Given the description of an element on the screen output the (x, y) to click on. 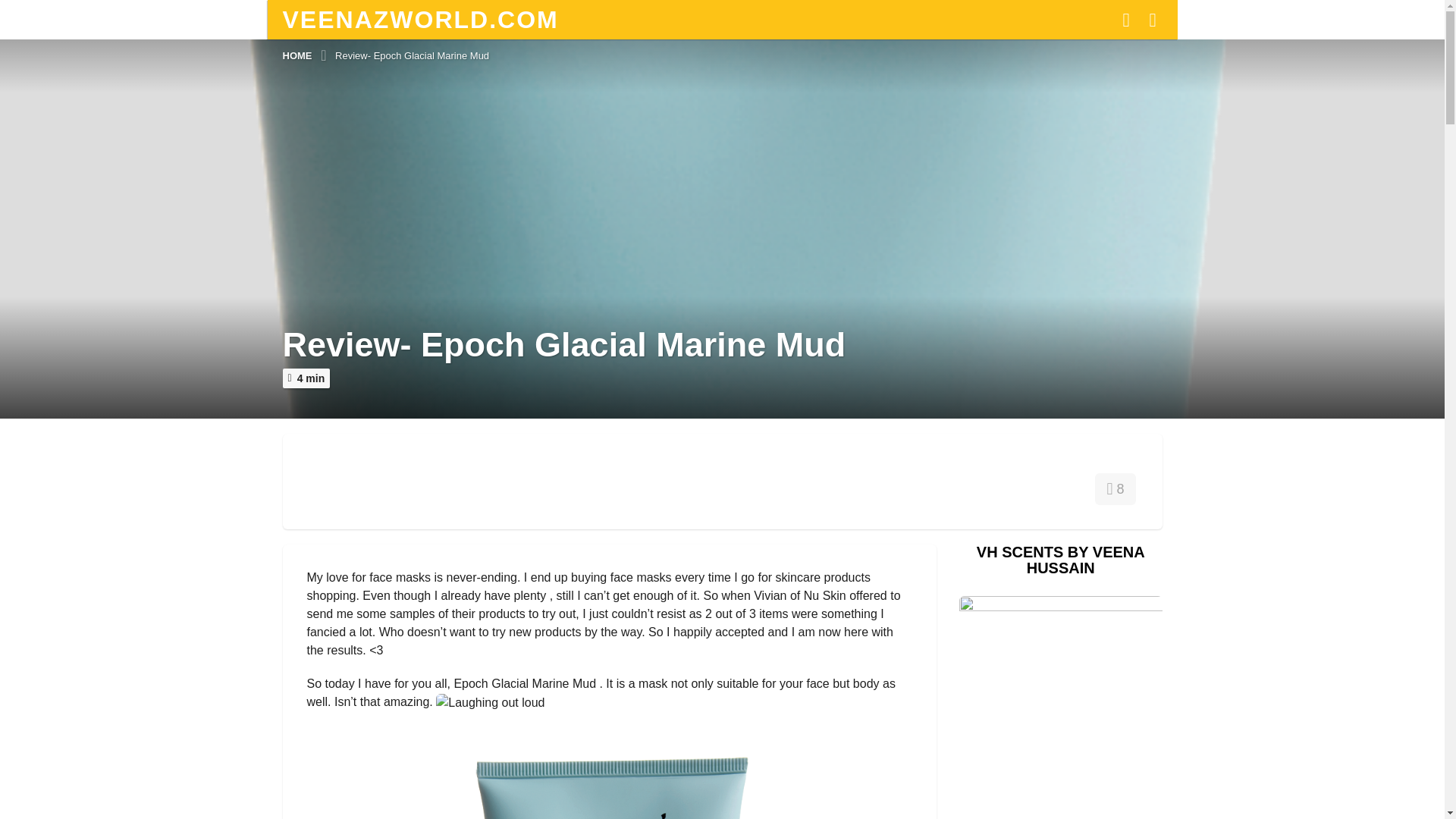
Review- Epoch Glacial Marine Mud (411, 54)
HOME (298, 54)
VEENAZWORLD.COM (419, 19)
8 (1115, 488)
